Given the description of an element on the screen output the (x, y) to click on. 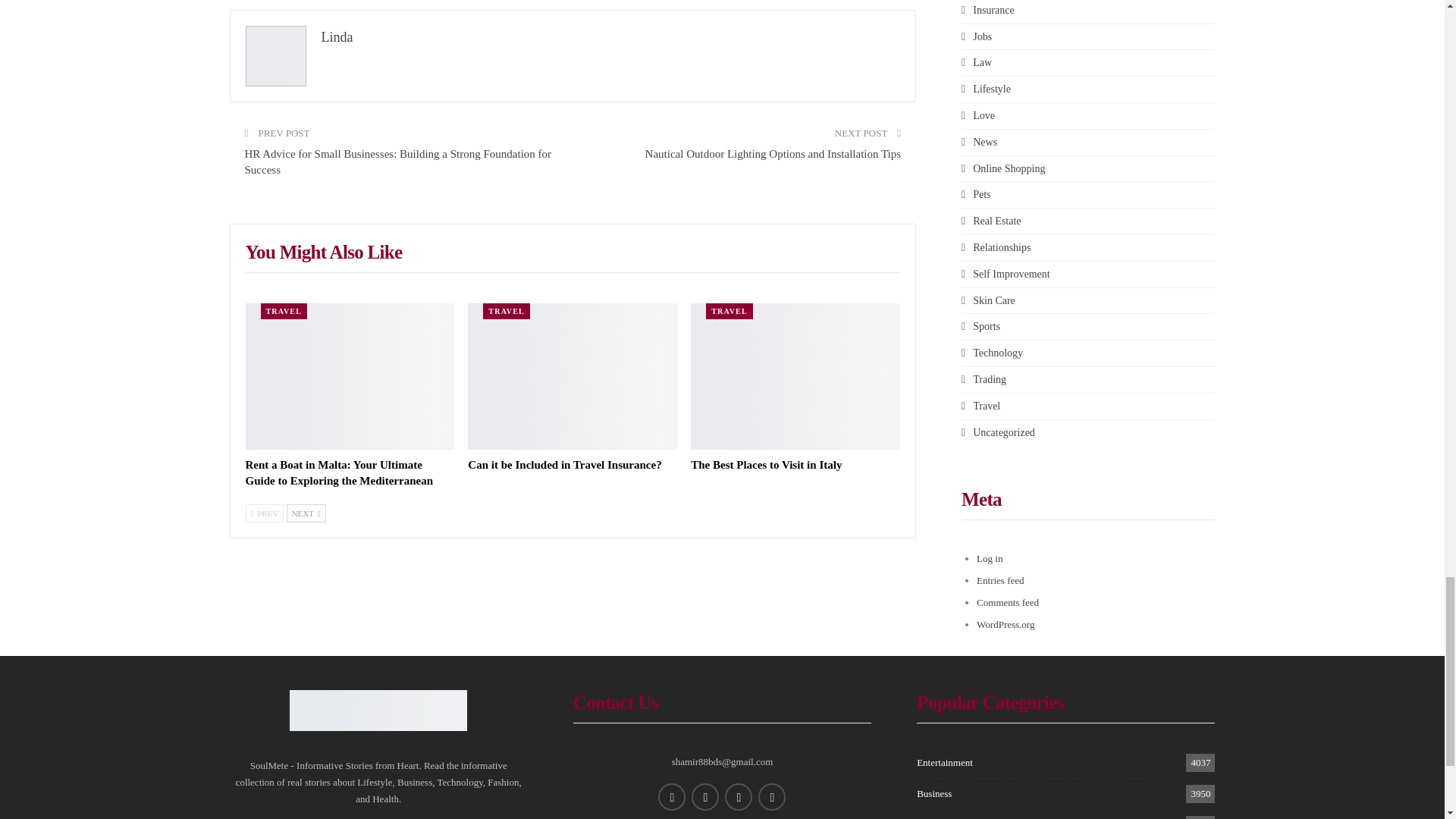
Can it be Included in Travel Insurance? (572, 376)
